Given the description of an element on the screen output the (x, y) to click on. 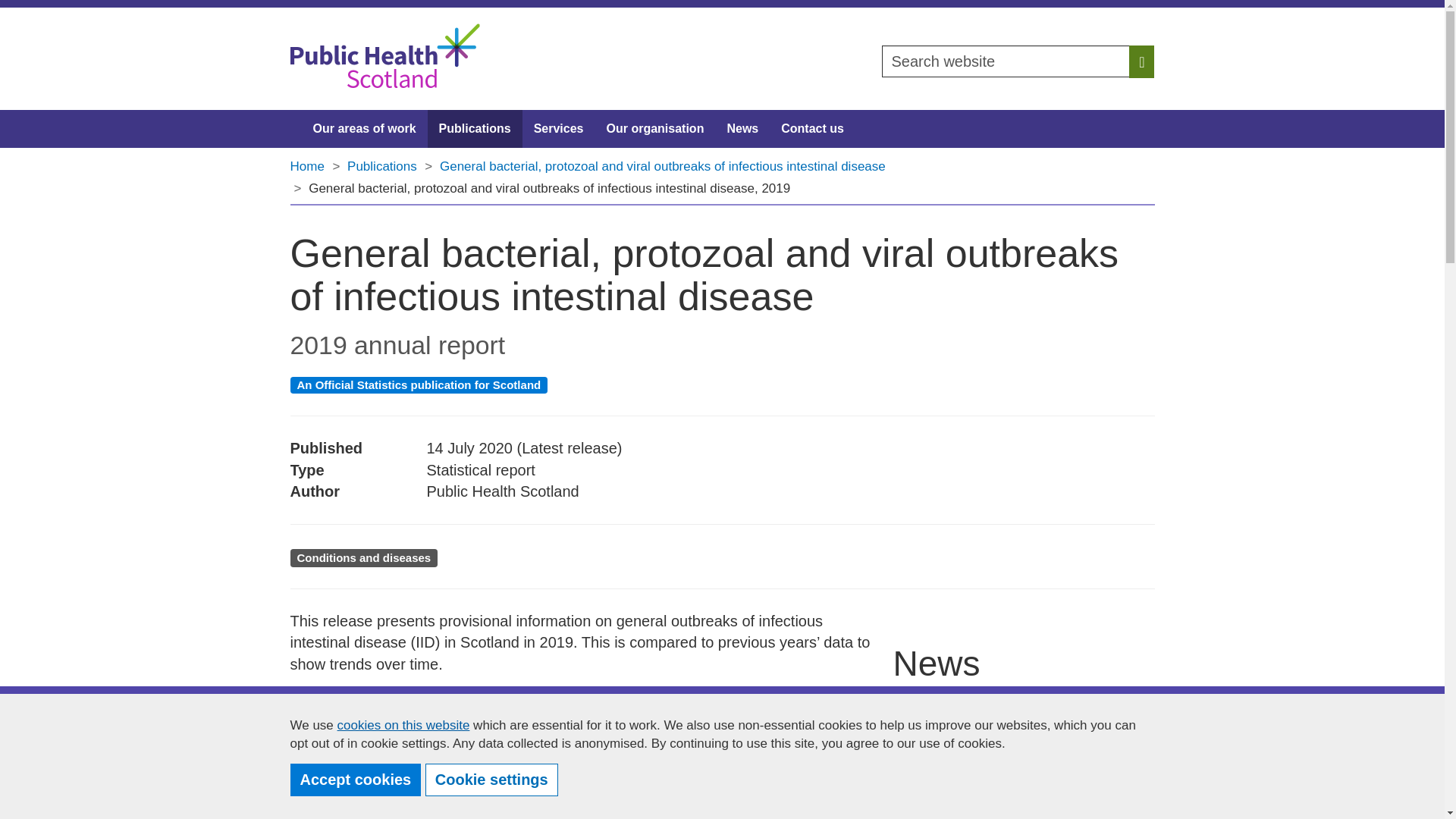
Contact us (813, 128)
Submit (35, 16)
News (742, 128)
Publications (475, 128)
Update on TB in Scotland (1025, 807)
Home (1025, 807)
